Given the description of an element on the screen output the (x, y) to click on. 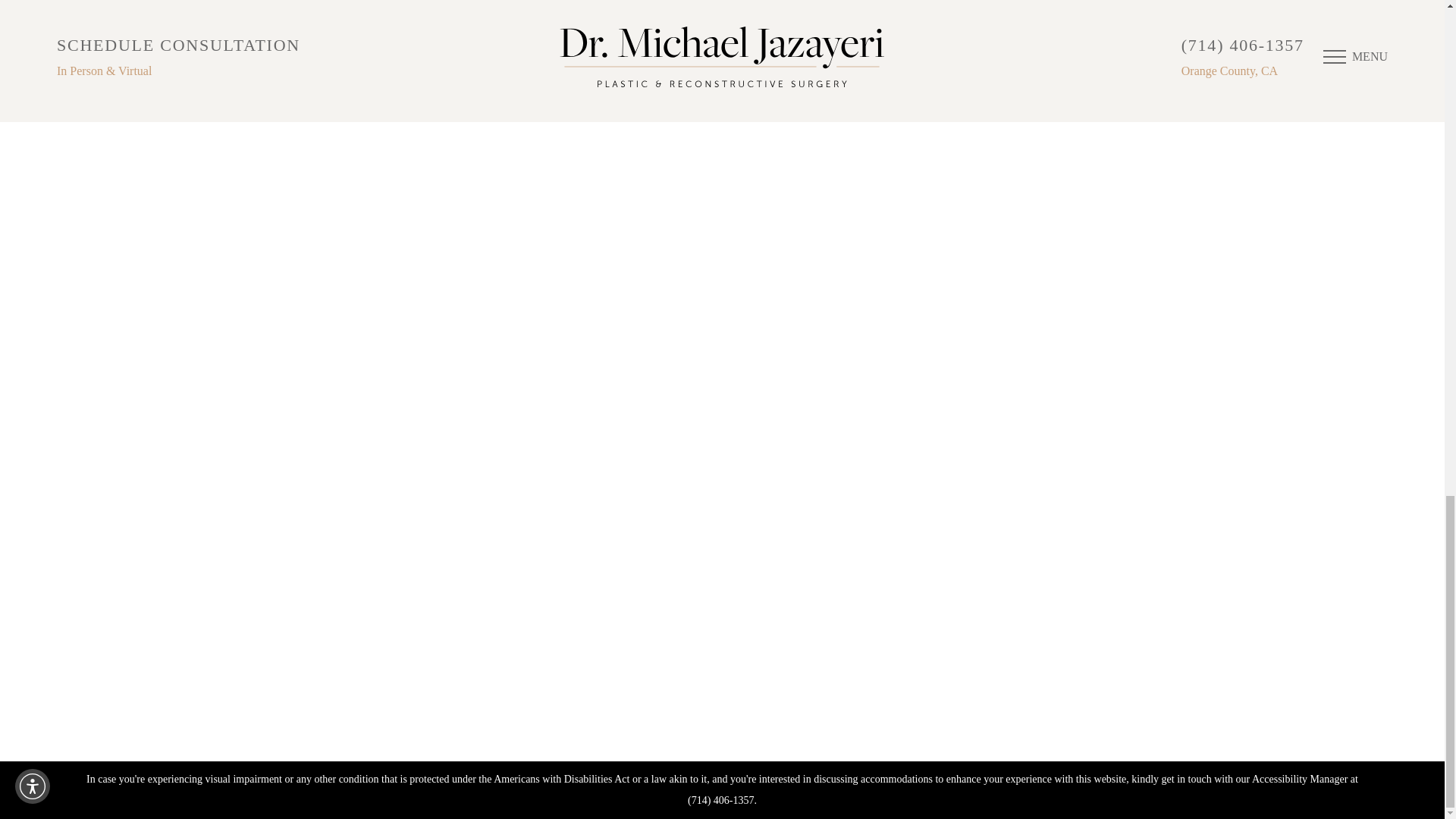
Learn more about Influx Marketing (1193, 709)
Submit Form (995, 382)
